Given the description of an element on the screen output the (x, y) to click on. 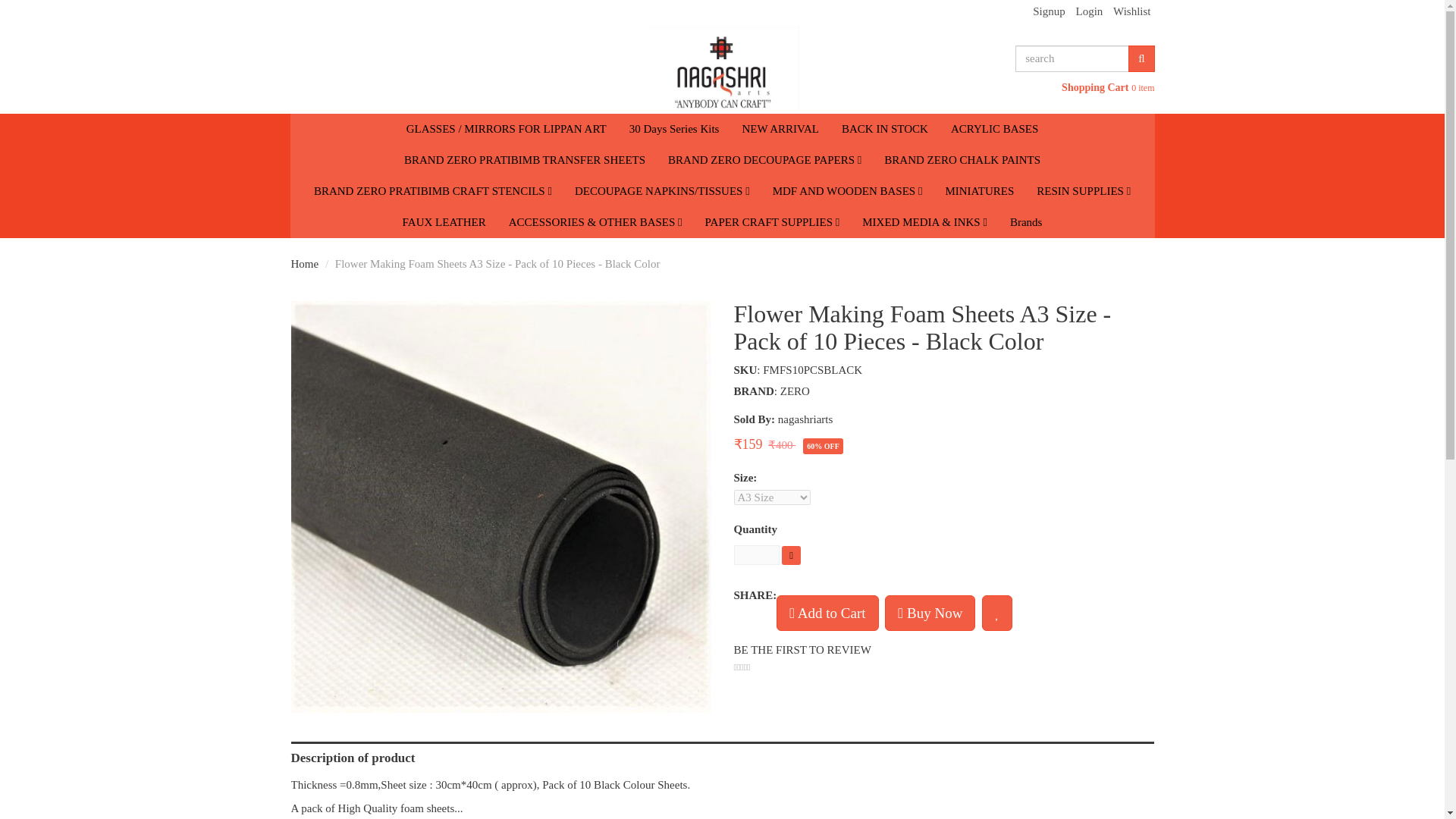
Nagashriarts (722, 67)
Add to Cart (826, 612)
Buy Now (930, 612)
